Given the description of an element on the screen output the (x, y) to click on. 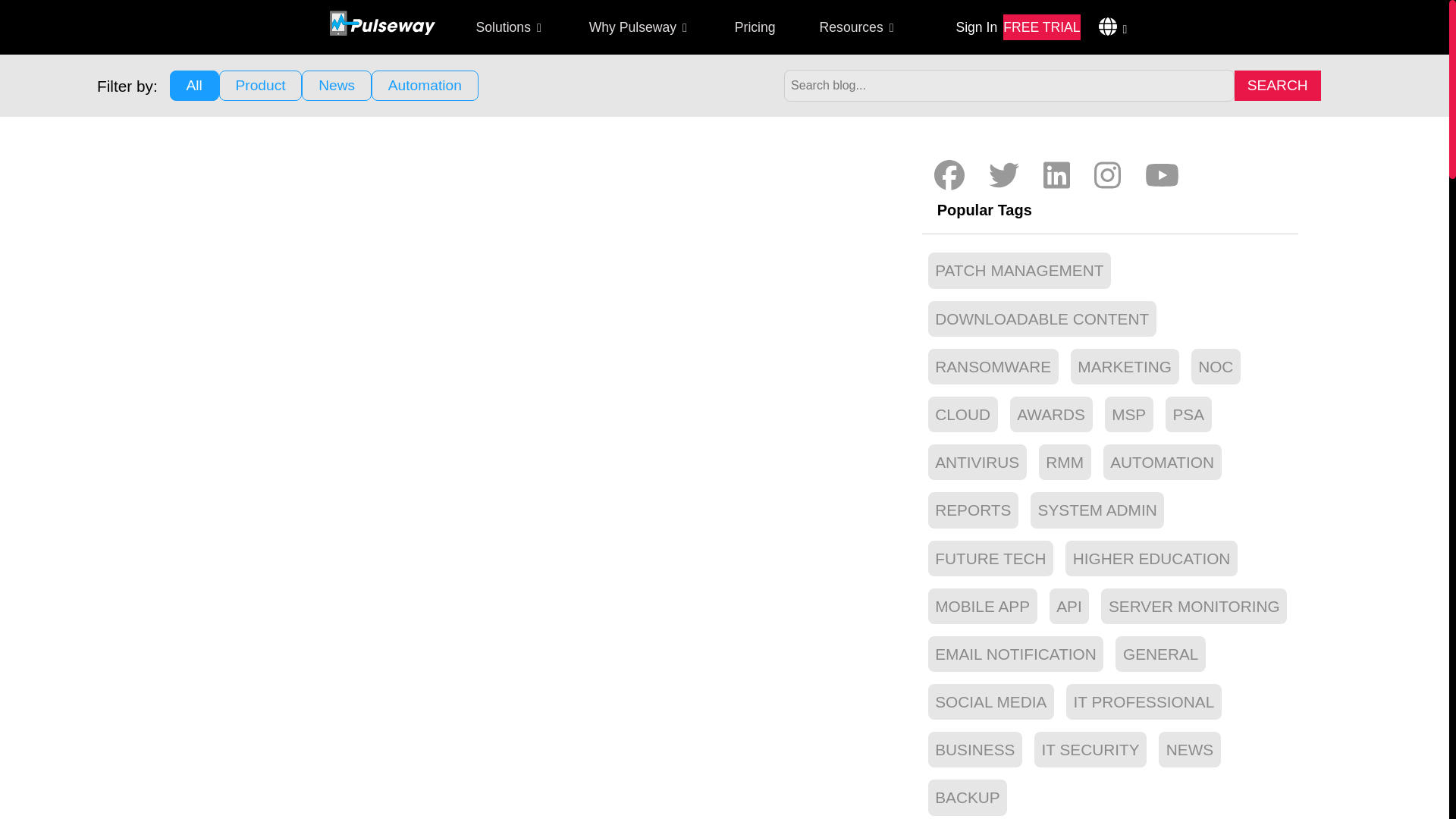
All (194, 85)
FREE TRIAL (1041, 27)
SEARCH (1277, 85)
Product (260, 85)
FREE TRIAL (1041, 27)
Automation (425, 85)
News (336, 85)
Pricing (755, 27)
